Given the description of an element on the screen output the (x, y) to click on. 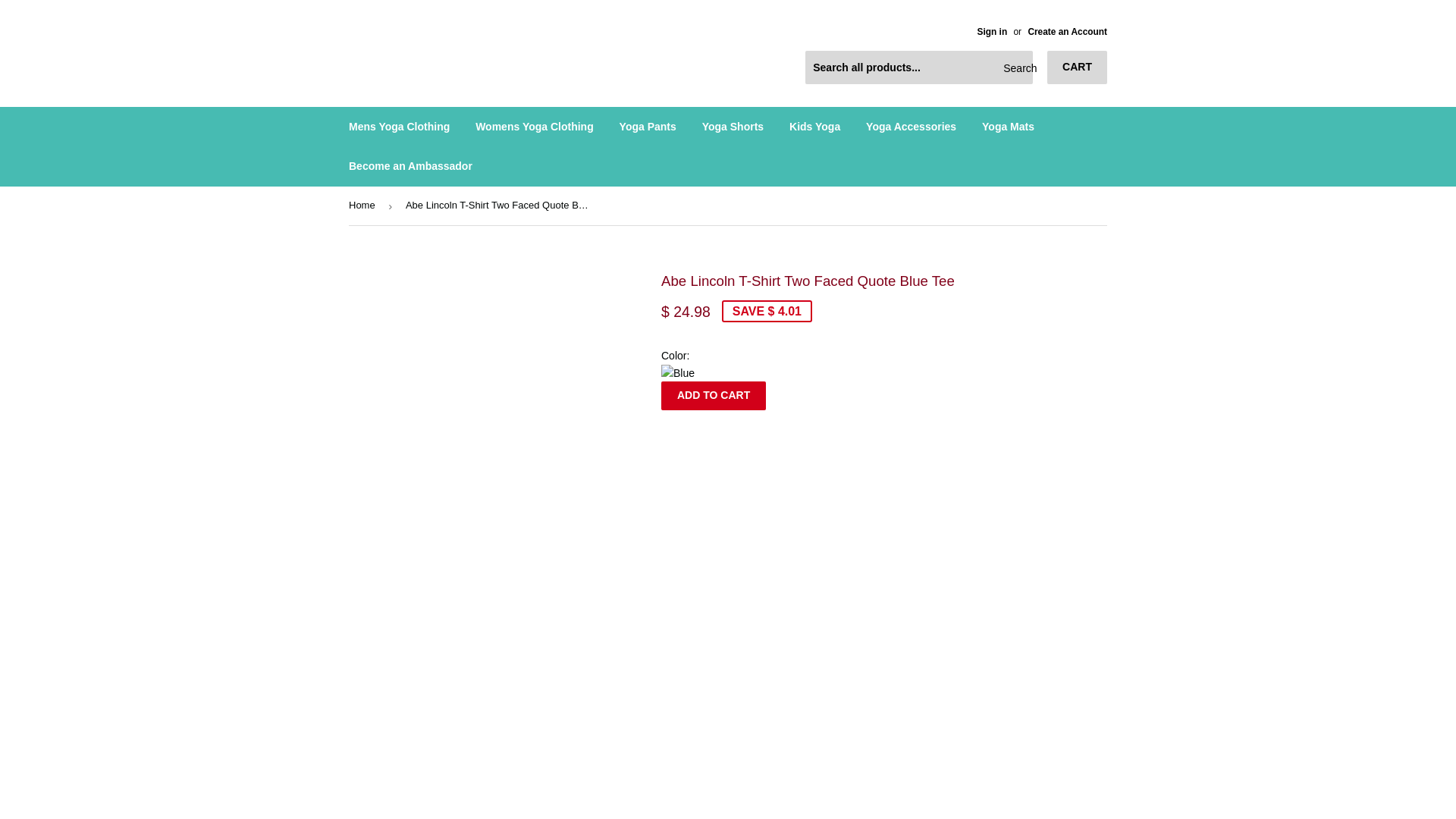
Search (1015, 68)
Create an Account (1066, 31)
CART (1076, 67)
Sign in (991, 31)
